Given the description of an element on the screen output the (x, y) to click on. 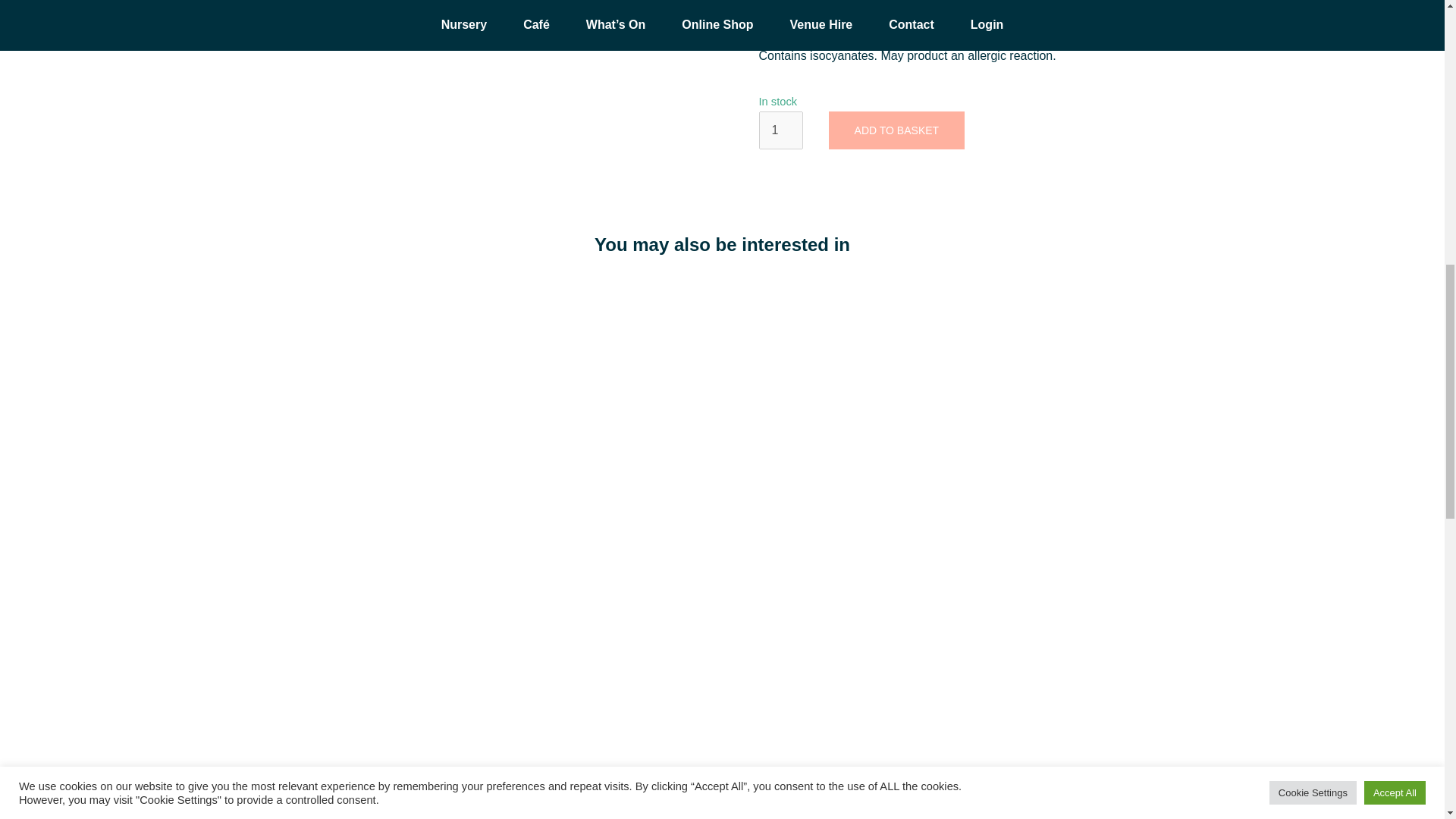
ADD TO BASKET (896, 130)
1 (780, 130)
121066-5010272192285.jpg (329, 13)
